Given the description of an element on the screen output the (x, y) to click on. 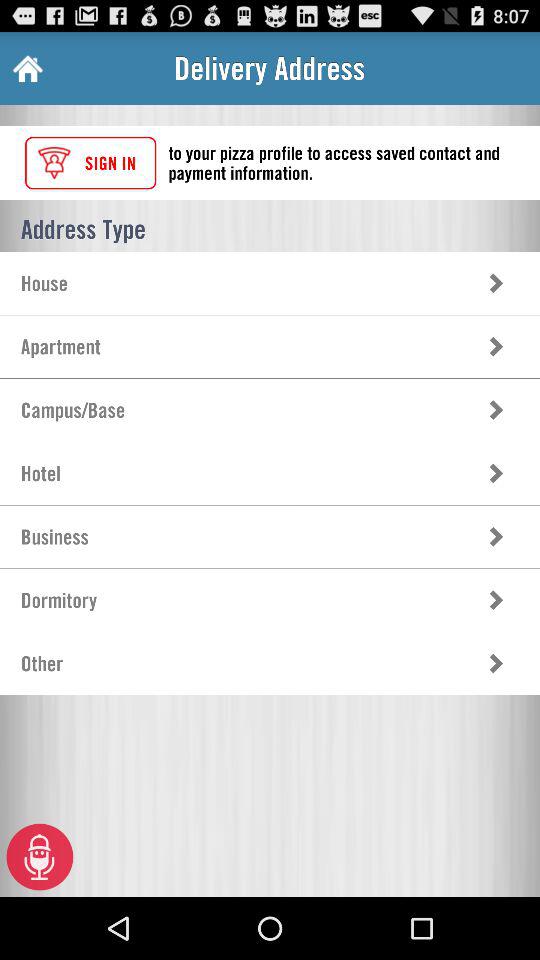
scroll until sign in (90, 162)
